Given the description of an element on the screen output the (x, y) to click on. 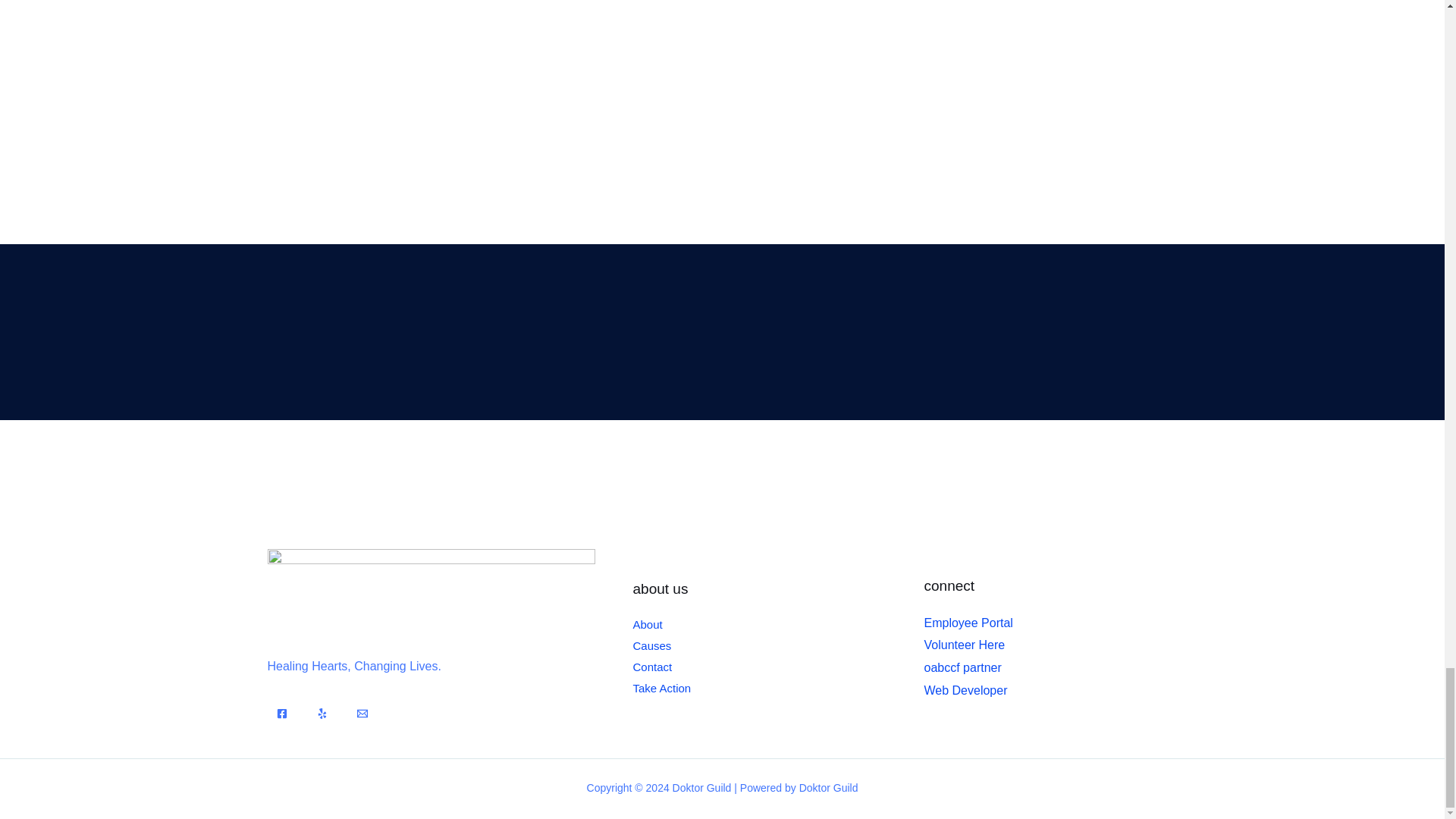
Take Action (660, 687)
Causes (651, 645)
Volunteer Here (963, 644)
About (646, 624)
Web Developer (965, 689)
Contact (651, 666)
oabccf partner (962, 667)
Employee Portal (967, 622)
